Given the description of an element on the screen output the (x, y) to click on. 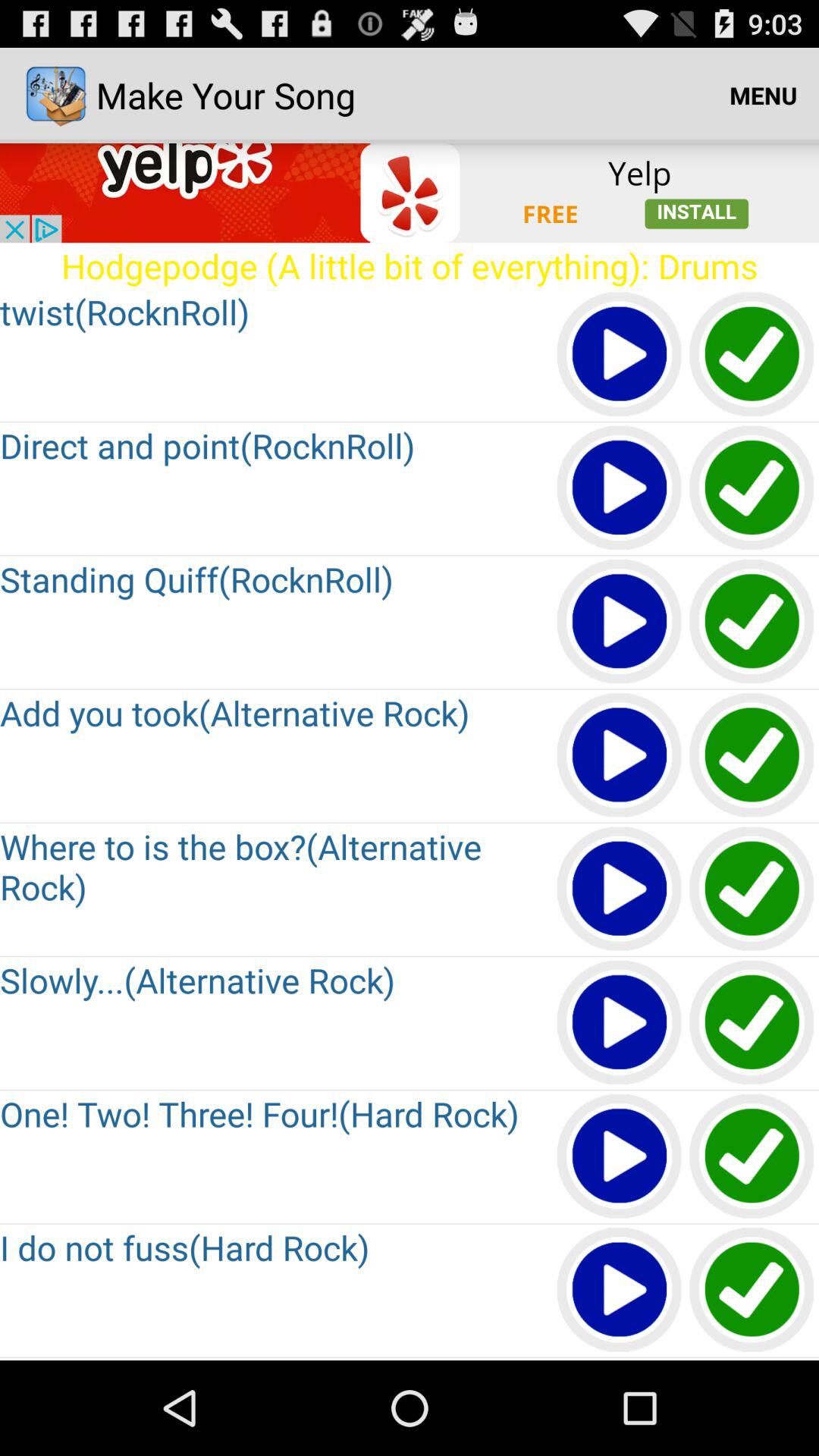
advertisement (409, 192)
